Given the description of an element on the screen output the (x, y) to click on. 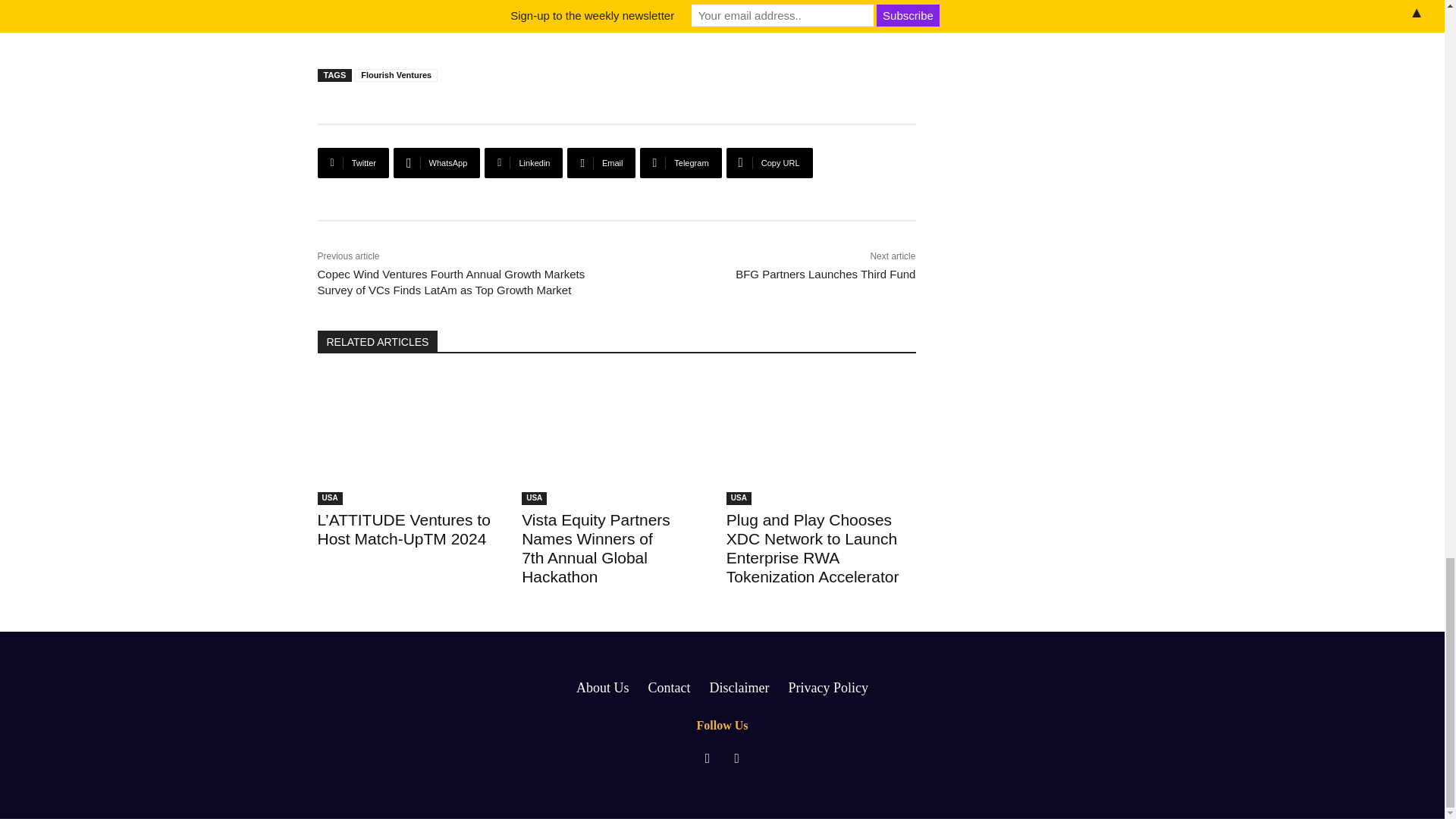
Linkedin (523, 163)
BFG Partners Launches Third Fund (825, 273)
USA (534, 498)
Twitter (352, 163)
WhatsApp (436, 163)
WhatsApp (436, 163)
Twitter (352, 163)
USA (738, 498)
Copy URL (769, 163)
